Given the description of an element on the screen output the (x, y) to click on. 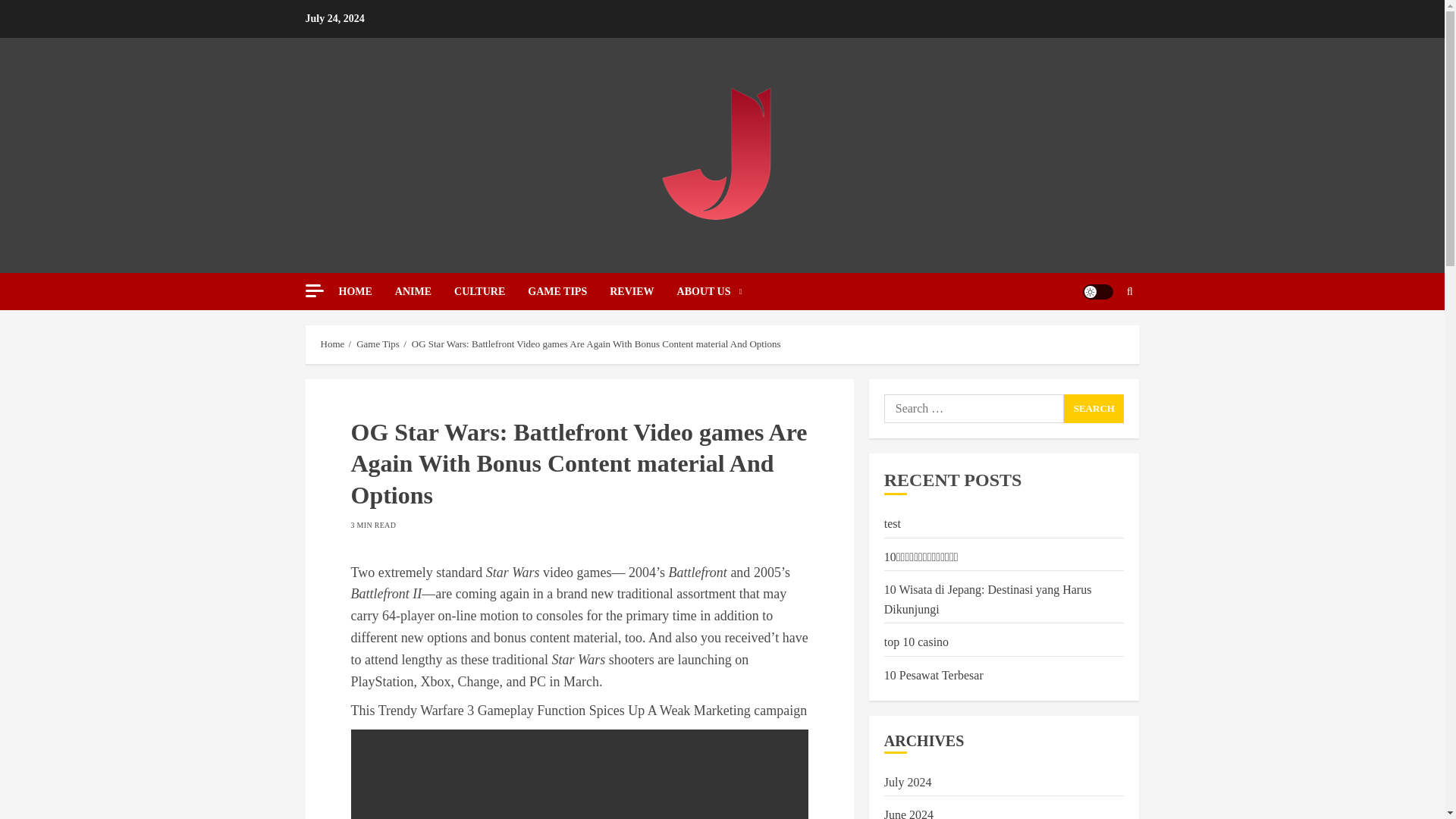
HOME (365, 291)
REVIEW (643, 291)
Search (1094, 408)
Search (1099, 337)
ABOUT US (709, 291)
Home (331, 344)
Search (1130, 291)
Game Tips (377, 344)
ANIME (424, 291)
Search (1094, 408)
GAME TIPS (568, 291)
CULTURE (490, 291)
